Given the description of an element on the screen output the (x, y) to click on. 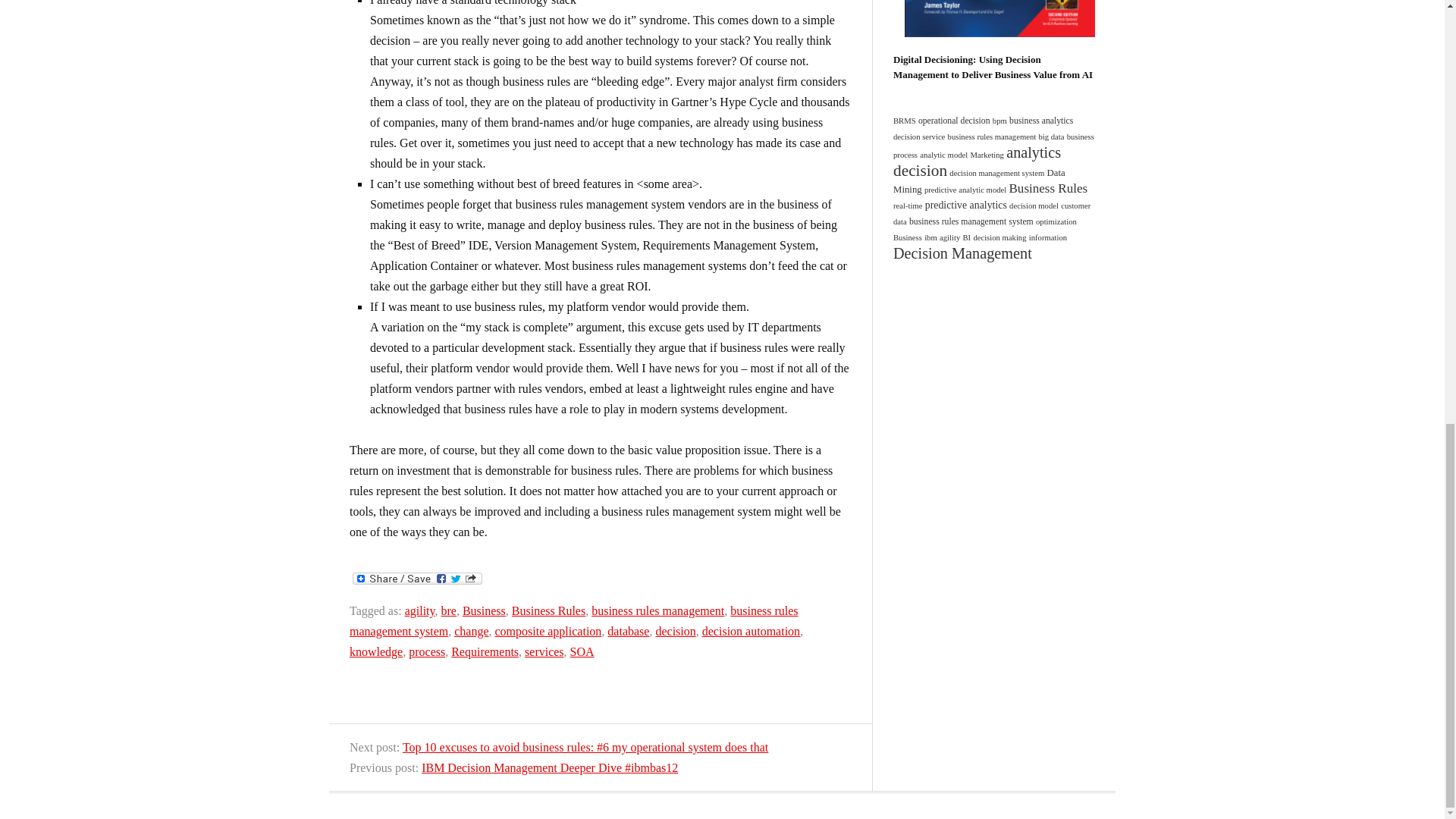
442 topics (1041, 121)
267 topics (965, 189)
change (470, 631)
267 topics (996, 172)
356 topics (954, 121)
bre (448, 610)
Business (484, 610)
decision automation (750, 631)
composite application (548, 631)
business rules management (657, 610)
services (544, 651)
1399 topics (920, 170)
agility (419, 610)
272 topics (993, 145)
204 topics (987, 154)
